Given the description of an element on the screen output the (x, y) to click on. 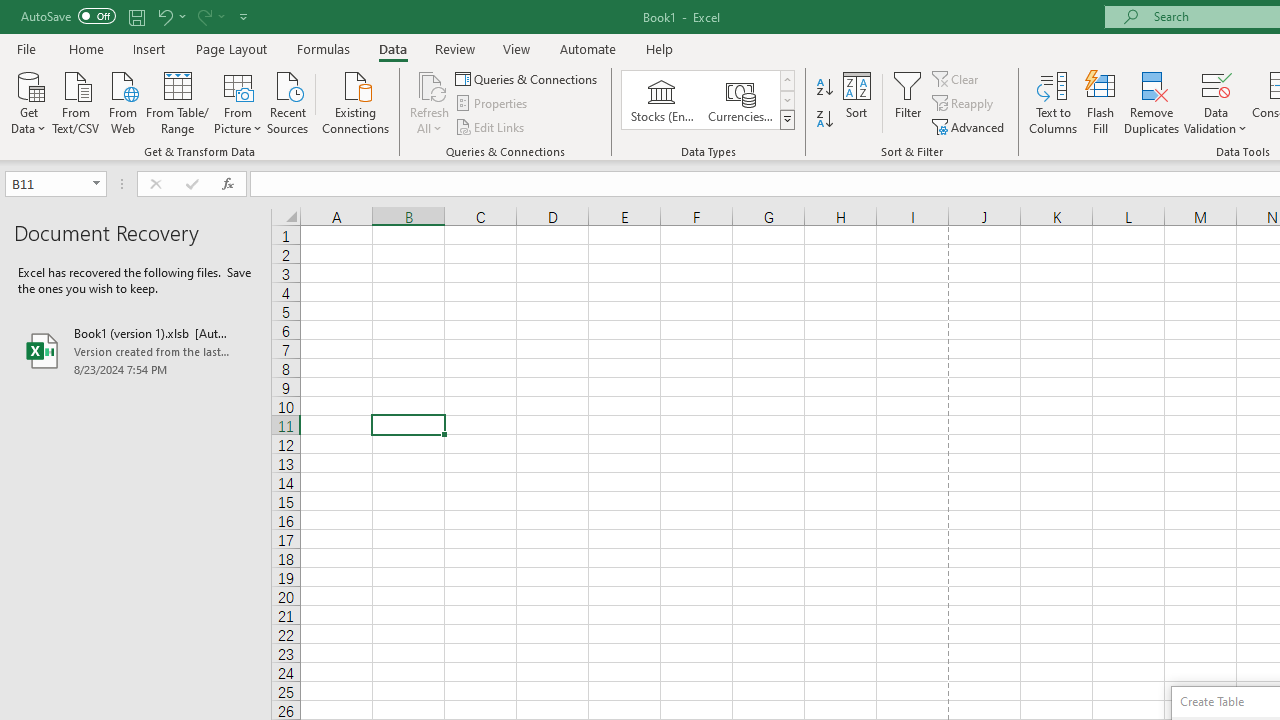
From Picture (238, 101)
Data Types (786, 120)
Flash Fill (1101, 102)
Stocks (English) (662, 100)
